Given the description of an element on the screen output the (x, y) to click on. 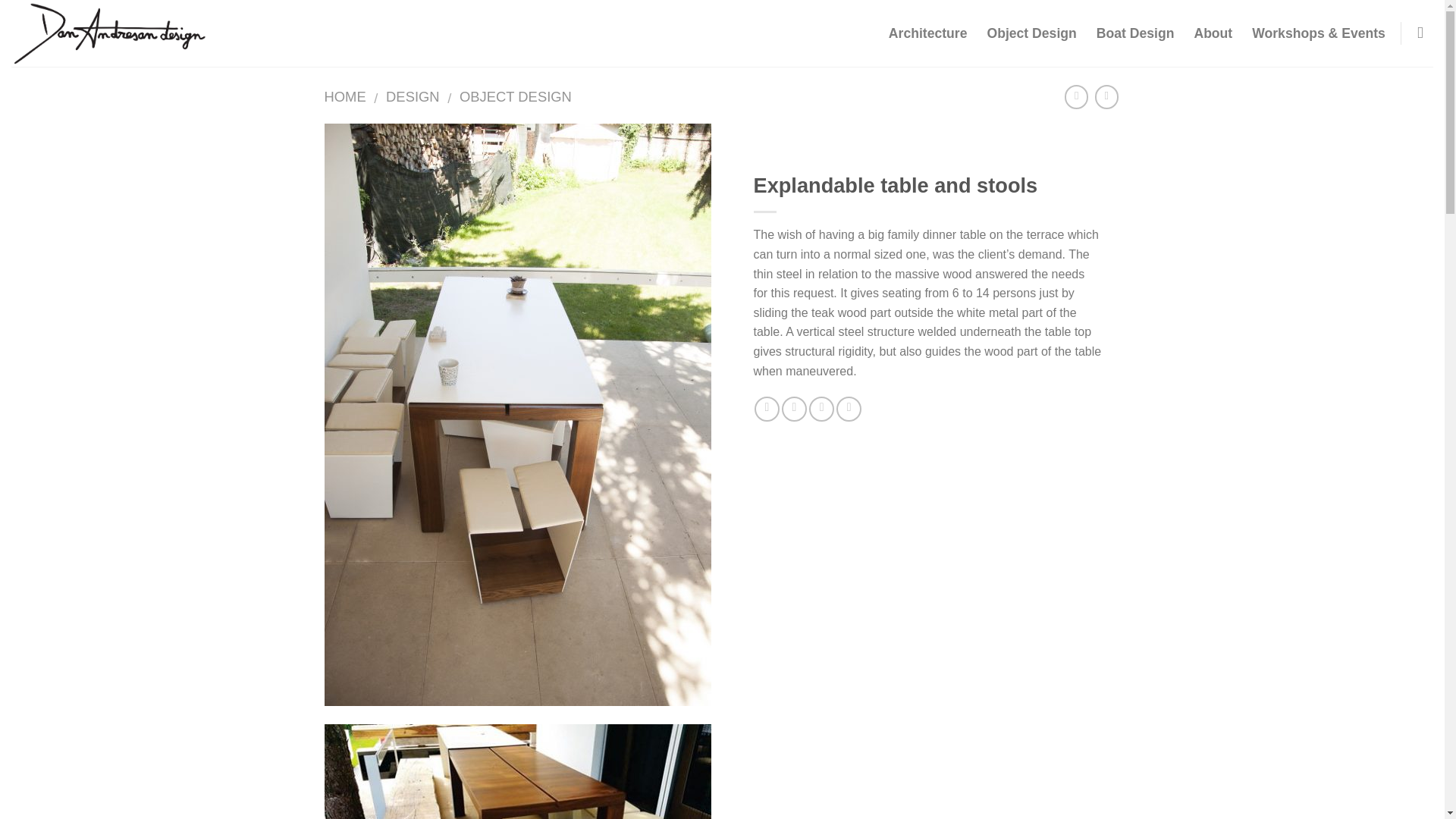
Dan Andresan Design - Design and Architecture (162, 33)
Object Design (1031, 33)
Boat Design (1135, 33)
About (1212, 33)
Architecture (928, 33)
DESIGN (412, 96)
HOME (345, 96)
OBJECT DESIGN (516, 96)
